Given the description of an element on the screen output the (x, y) to click on. 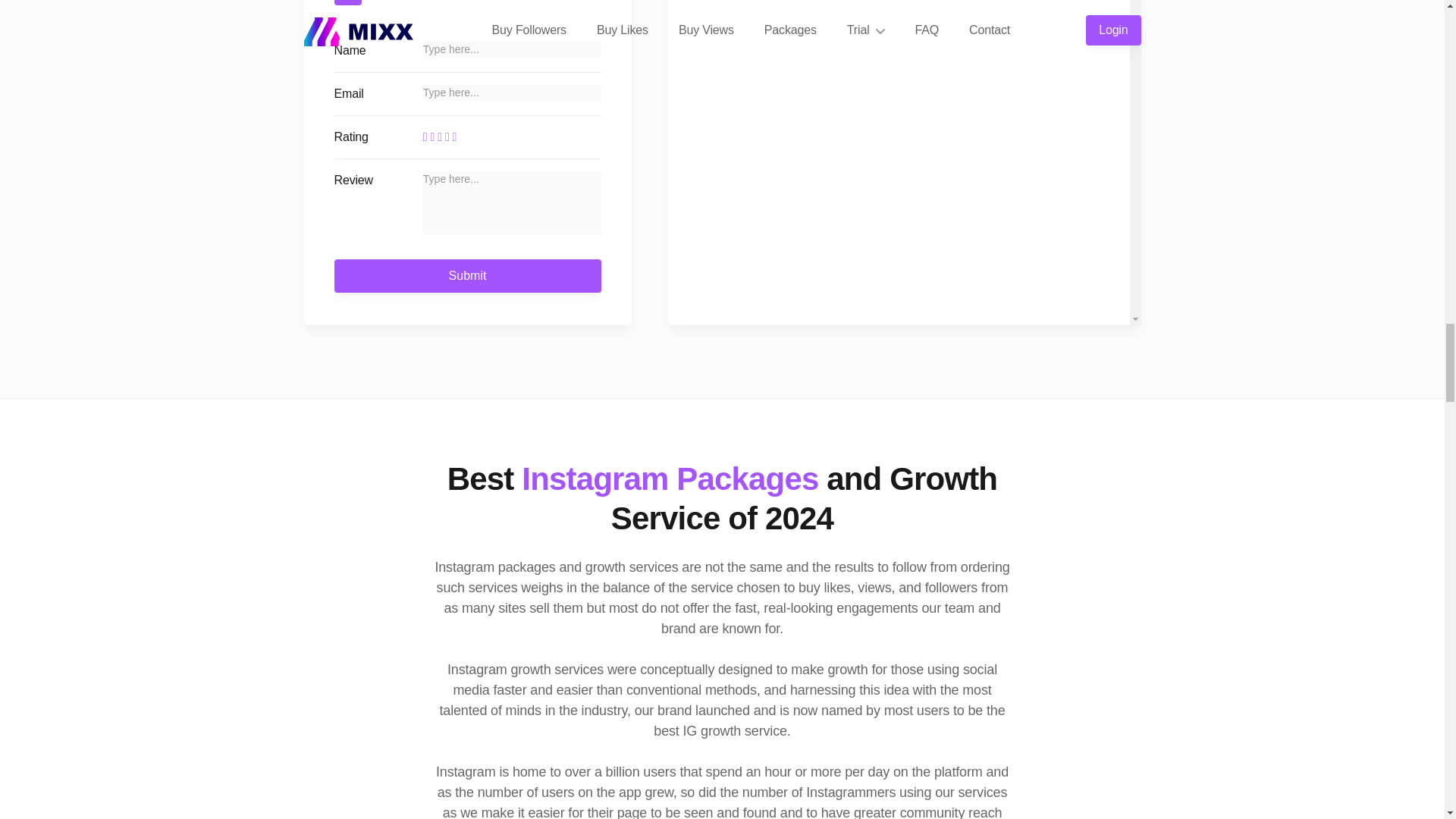
Submit (466, 275)
